Given the description of an element on the screen output the (x, y) to click on. 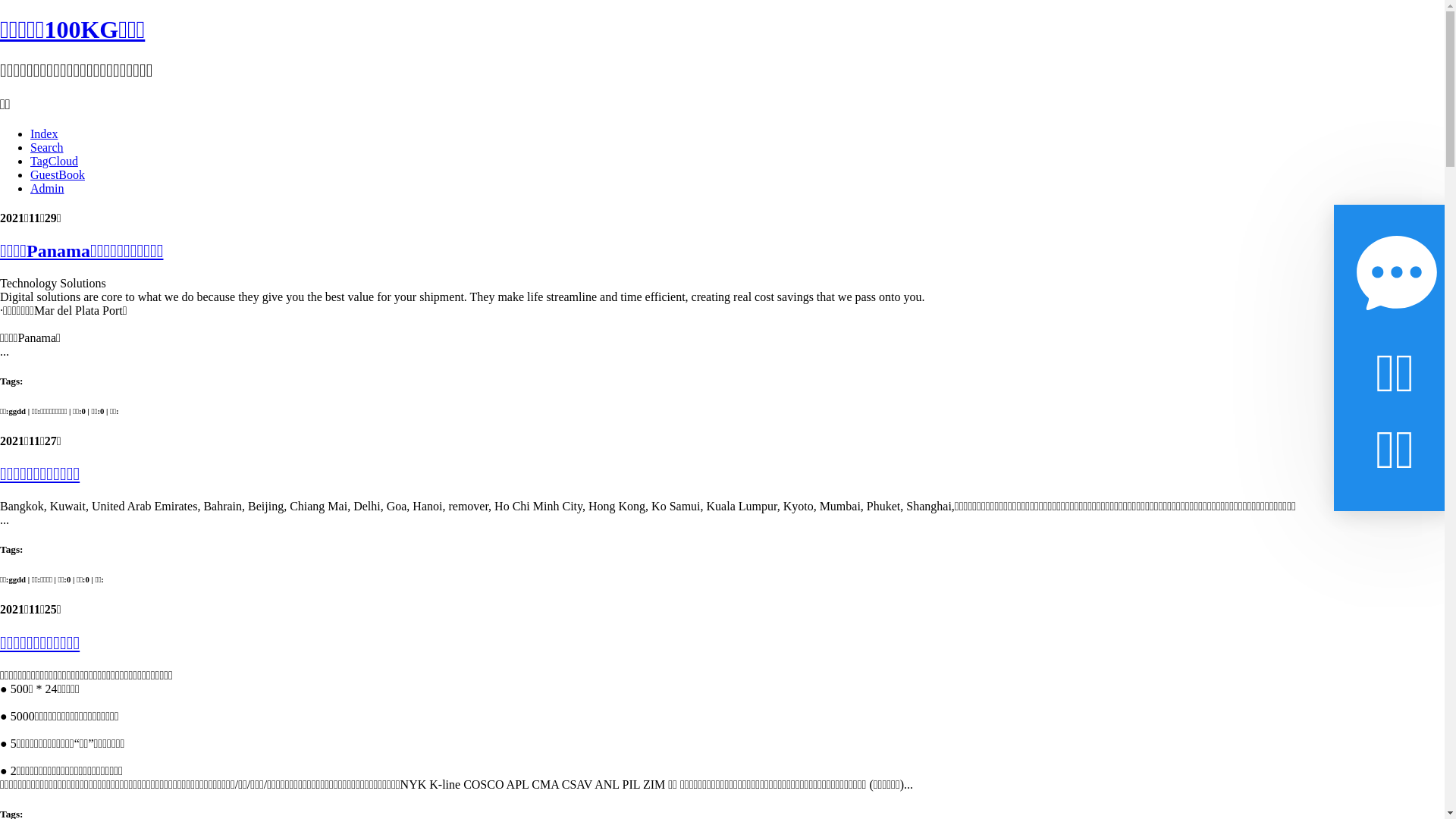
Admin Element type: text (46, 188)
Search Element type: text (46, 147)
GuestBook Element type: text (57, 174)
Index Element type: text (43, 133)
TagCloud Element type: text (54, 160)
